Given the description of an element on the screen output the (x, y) to click on. 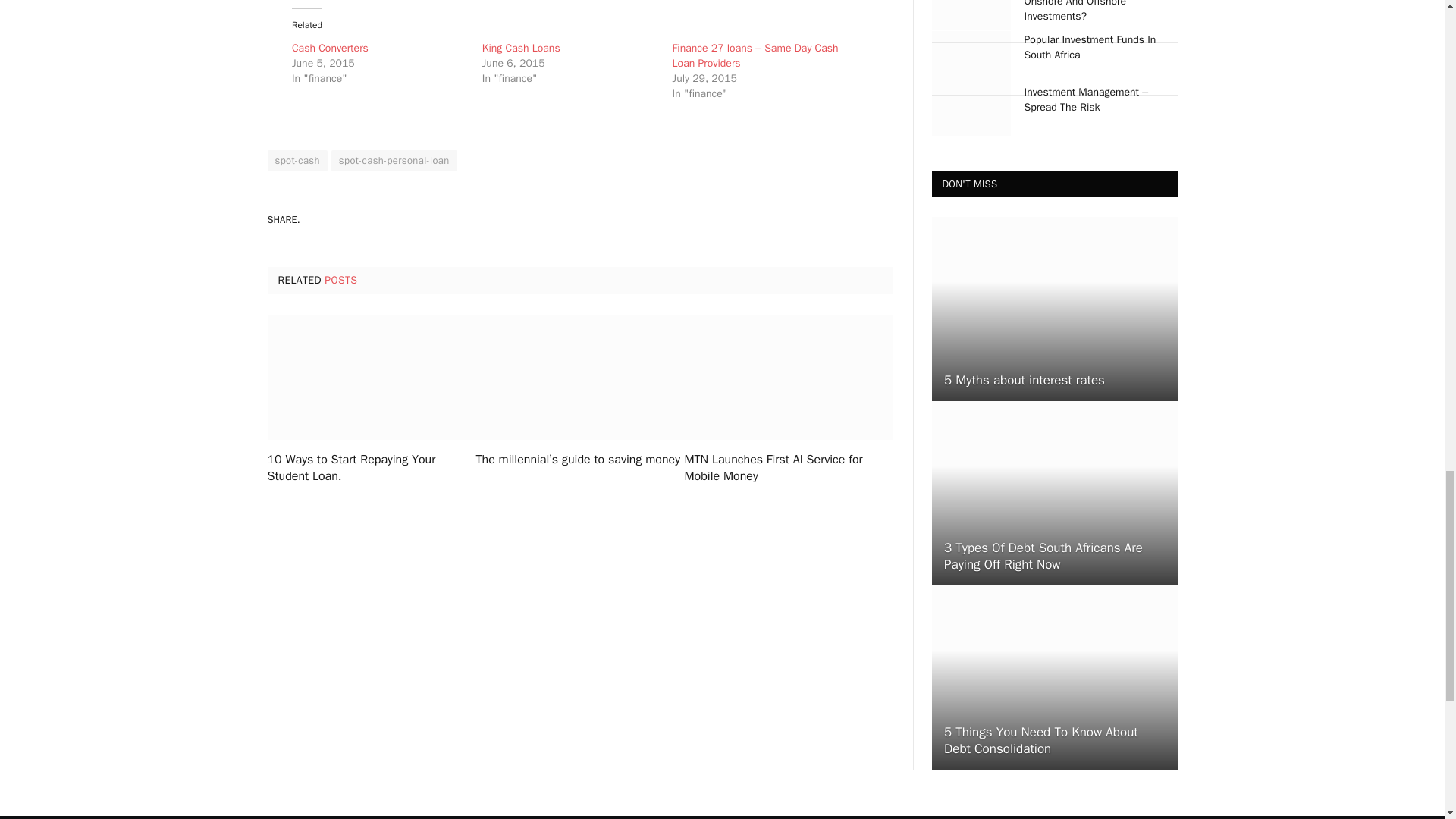
spot-cash (296, 160)
King Cash Loans (520, 47)
Cash Converters (330, 47)
